Given the description of an element on the screen output the (x, y) to click on. 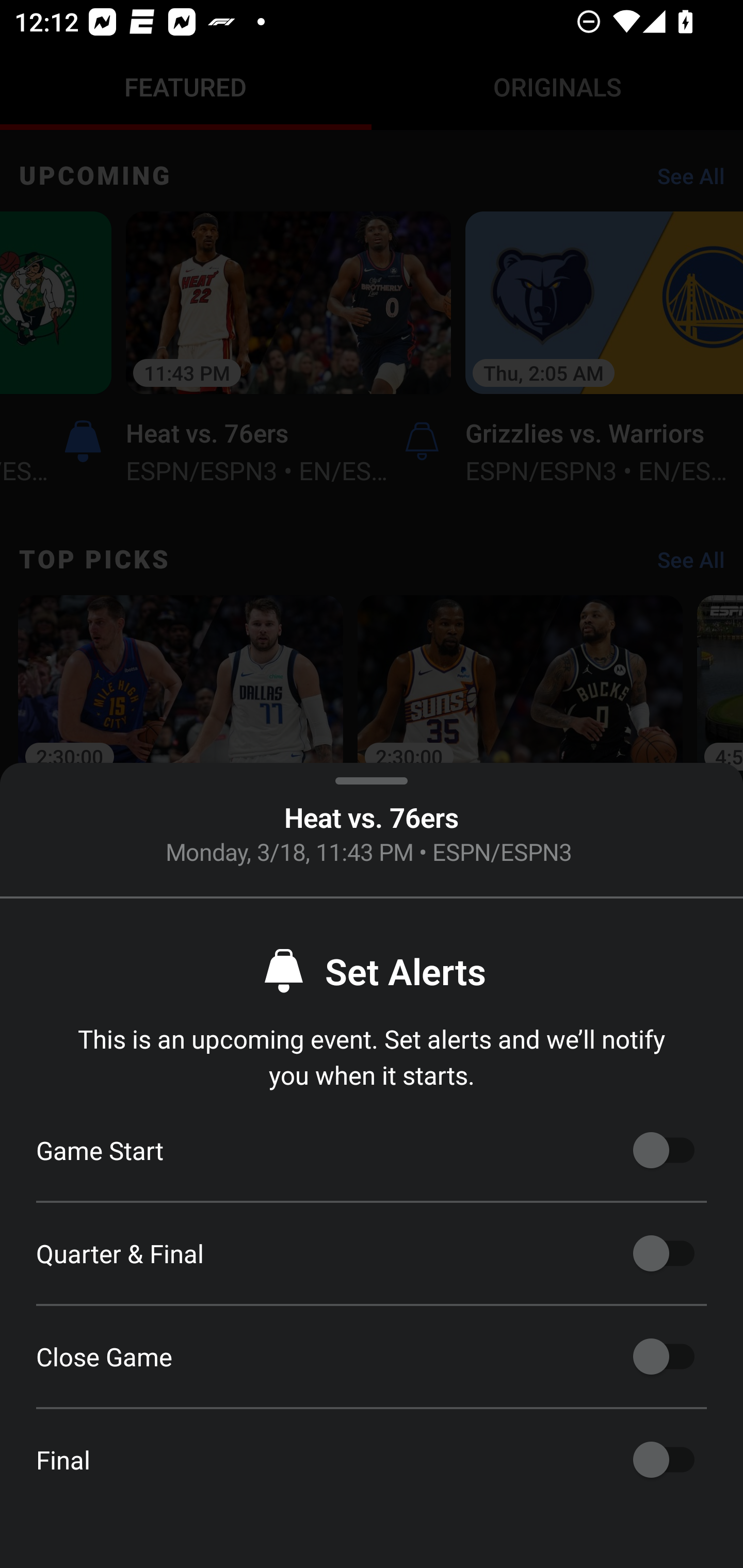
Game Start (663, 1150)
Quarter & Final (663, 1253)
Close Game (663, 1356)
Final (663, 1459)
